Given the description of an element on the screen output the (x, y) to click on. 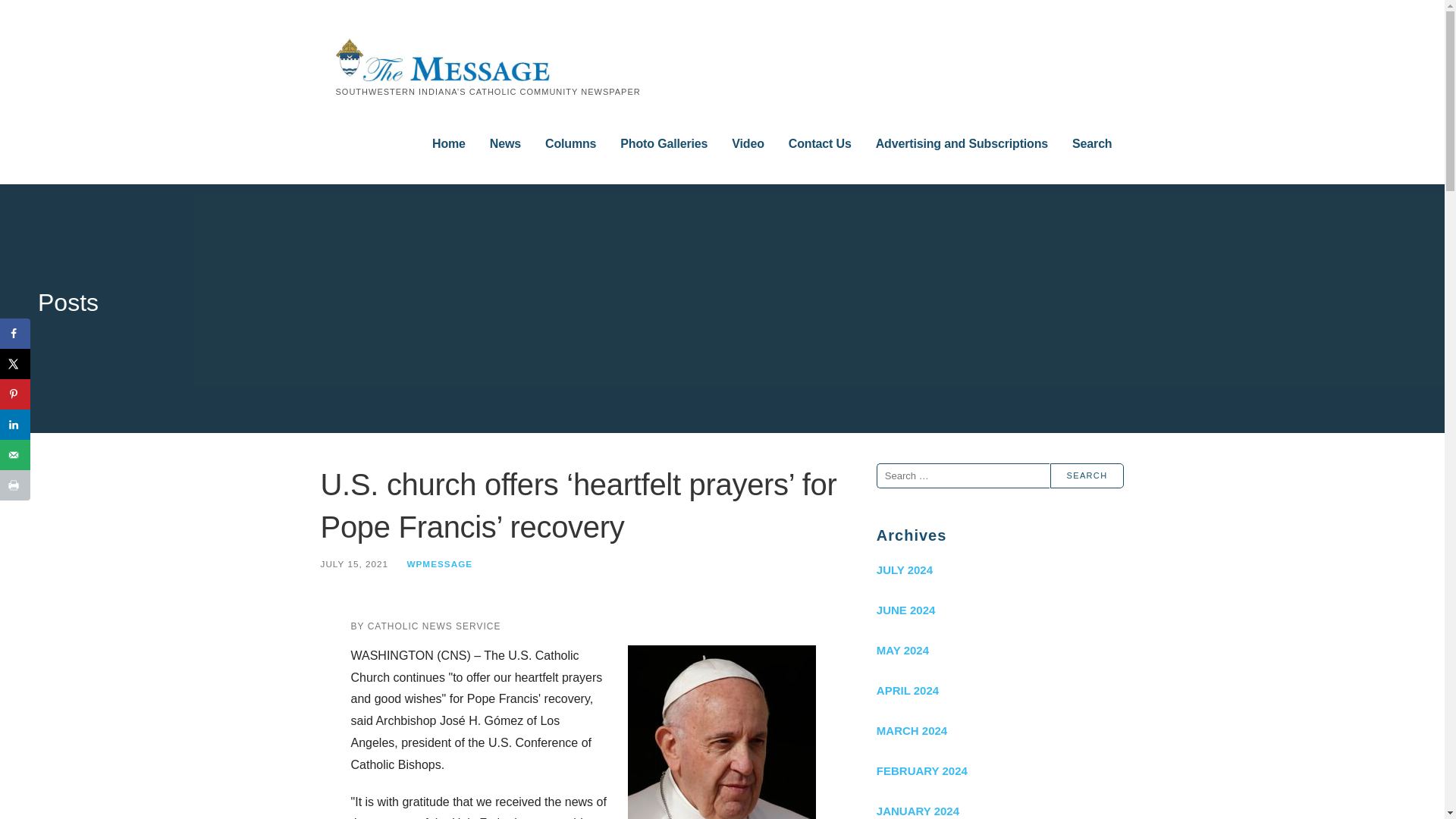
News (505, 144)
Save to Pinterest (15, 394)
Contact Us (820, 144)
Advertising and Subscriptions (962, 144)
Share on Facebook (15, 333)
Send over email (15, 454)
Search (1091, 144)
WPMESSAGE (438, 563)
Share on LinkedIn (15, 424)
Search (1086, 475)
Columns (569, 144)
Home (448, 144)
Video (747, 144)
Search (1086, 475)
Photo Galleries (663, 144)
